Given the description of an element on the screen output the (x, y) to click on. 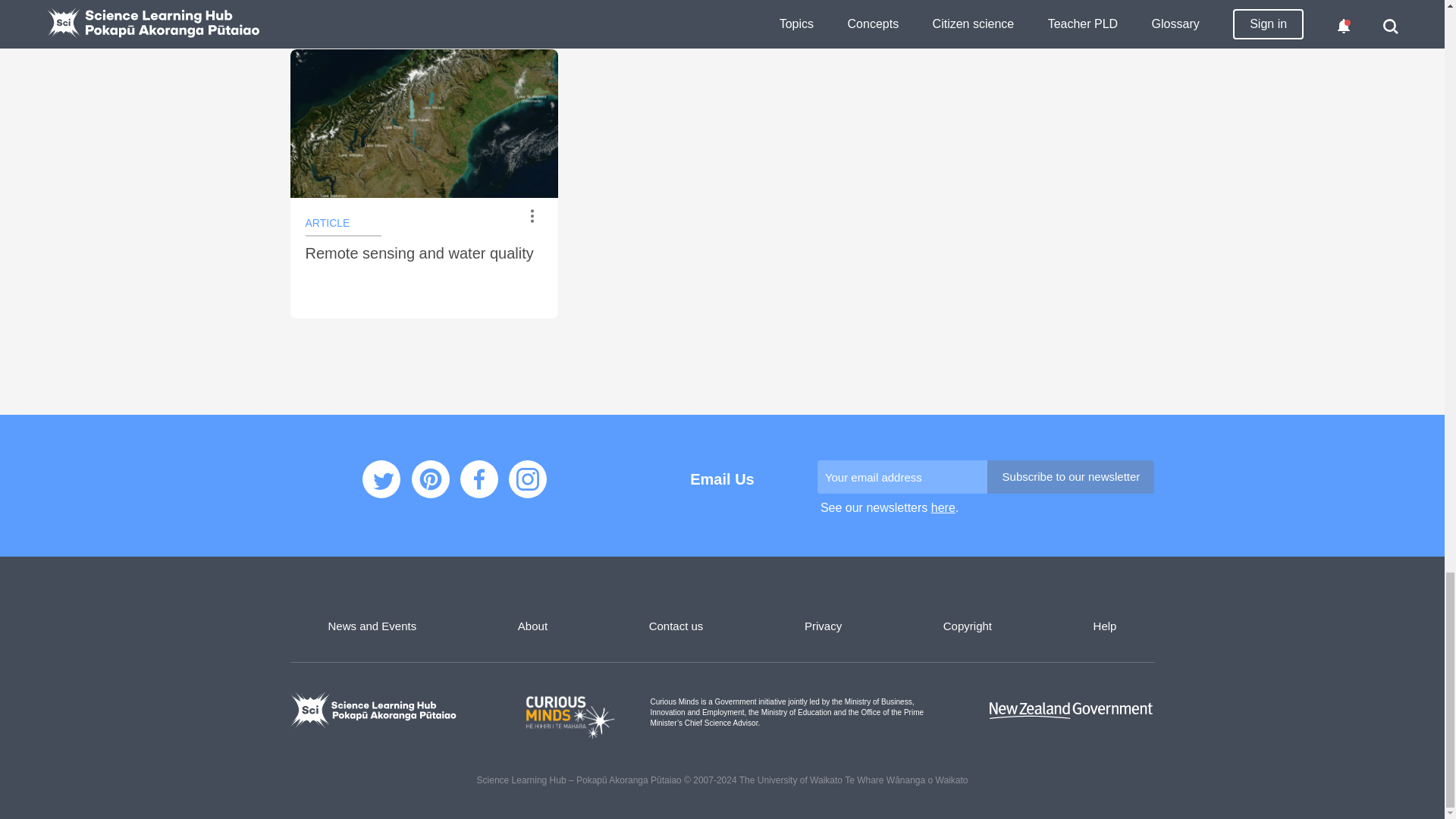
Help (1104, 625)
New Zealand Government (1070, 709)
Privacy (823, 625)
Subscribe to our newsletter (1070, 476)
Contact us (676, 625)
Science Learning Hubs (373, 709)
View news (943, 507)
Copyright (967, 625)
Curious Minds New Zealand (722, 706)
